Given the description of an element on the screen output the (x, y) to click on. 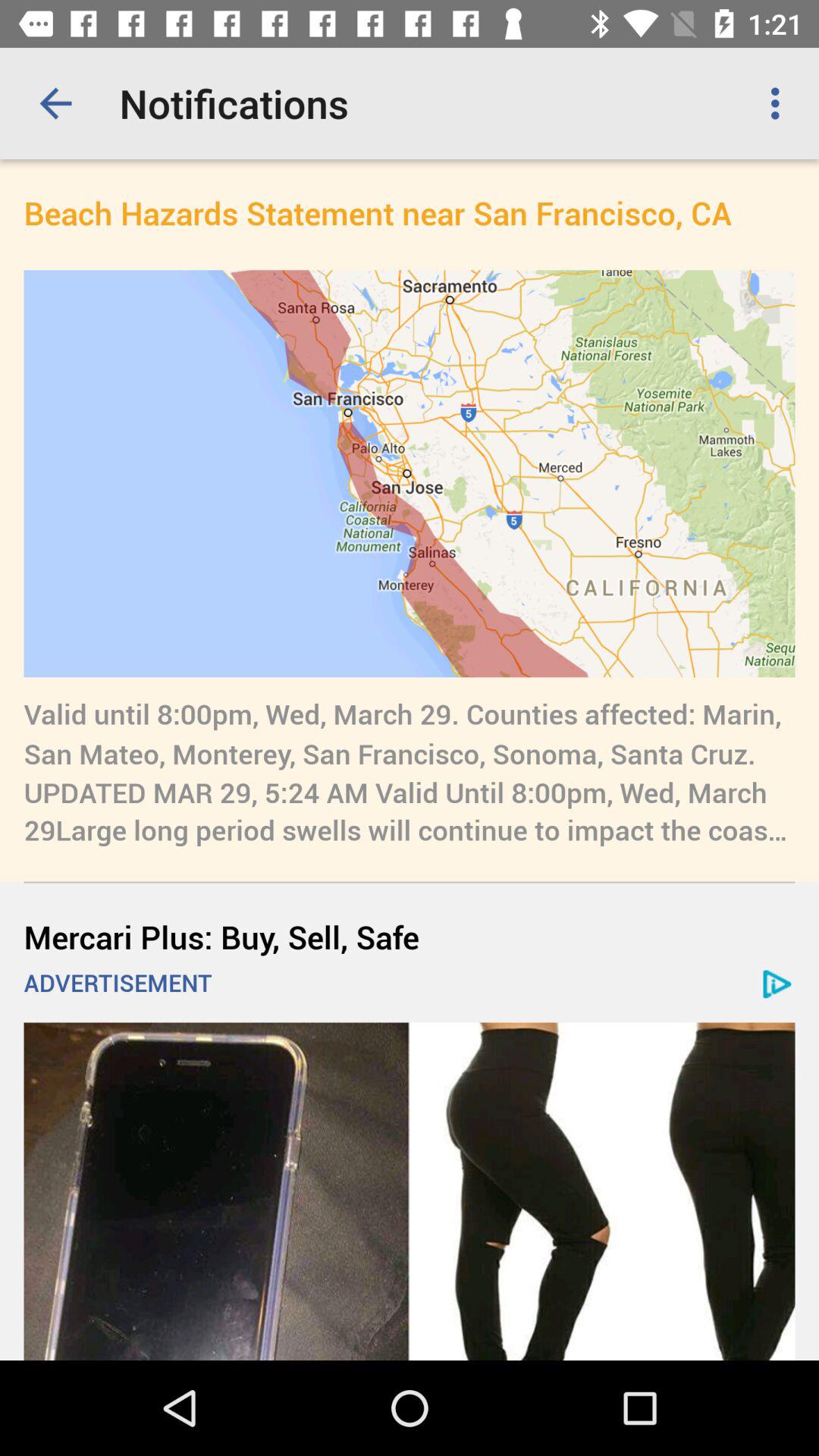
open the item at the top right corner (779, 103)
